Given the description of an element on the screen output the (x, y) to click on. 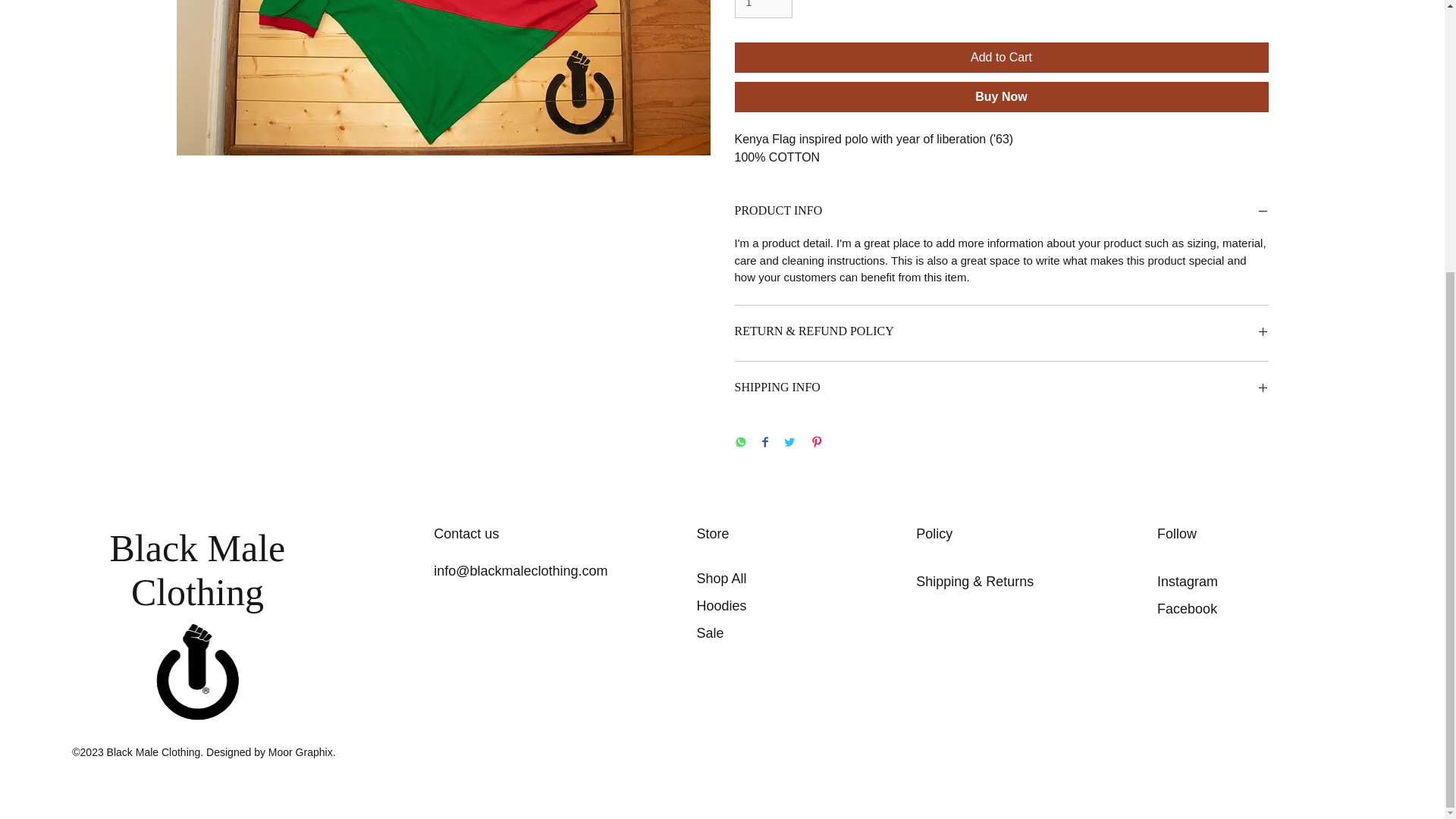
Hoodies (721, 605)
Black Male Clothing (197, 570)
1 (762, 9)
Moor Graphix (300, 752)
Instagram (1187, 581)
Sale (710, 632)
Add to Cart (1000, 57)
SHIPPING INFO (1000, 389)
Shop All (721, 578)
Facebook (1187, 608)
Buy Now (1000, 96)
PRODUCT INFO (1000, 212)
